Given the description of an element on the screen output the (x, y) to click on. 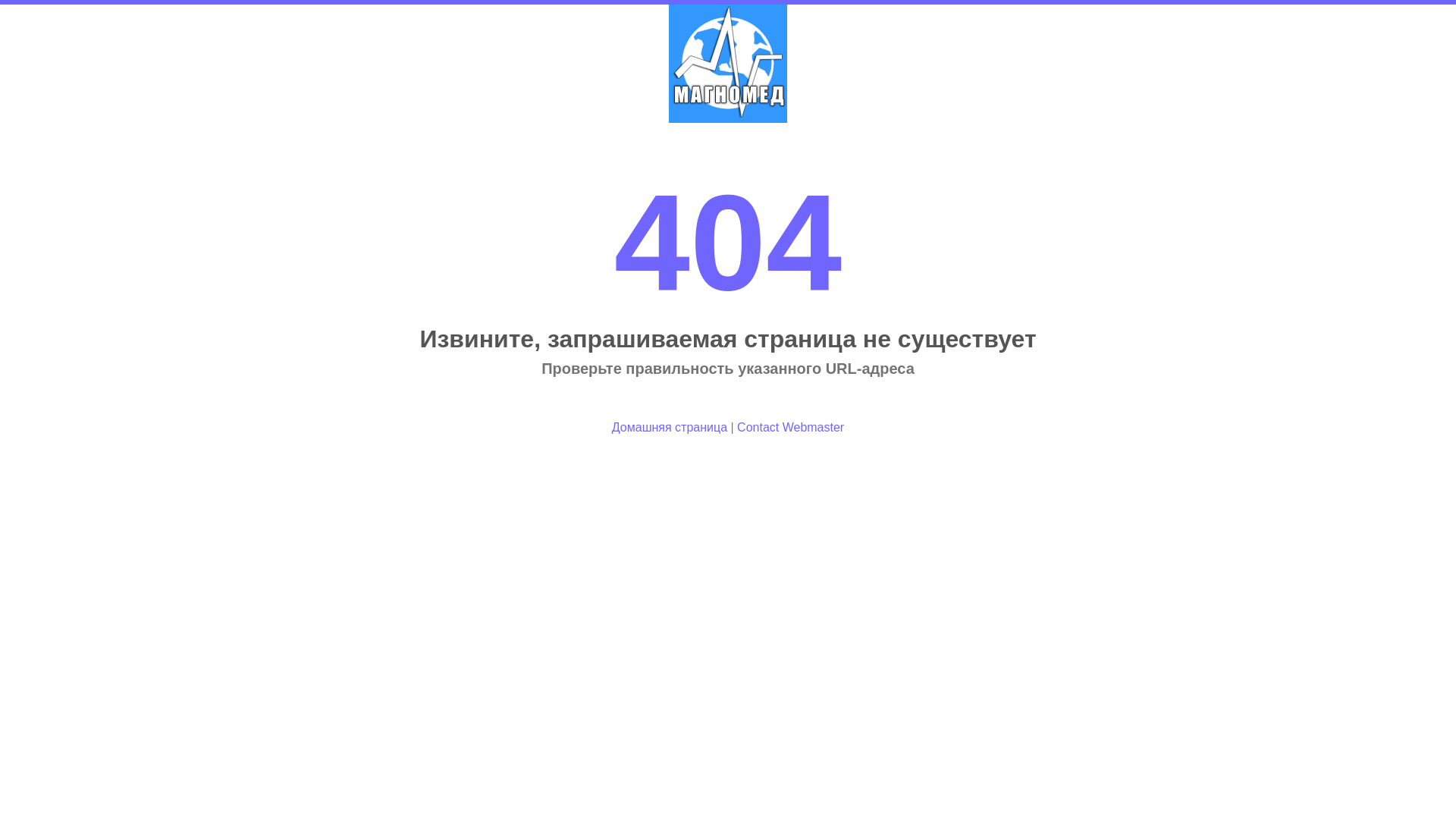
Contact Webmaster Element type: text (790, 426)
